Given the description of an element on the screen output the (x, y) to click on. 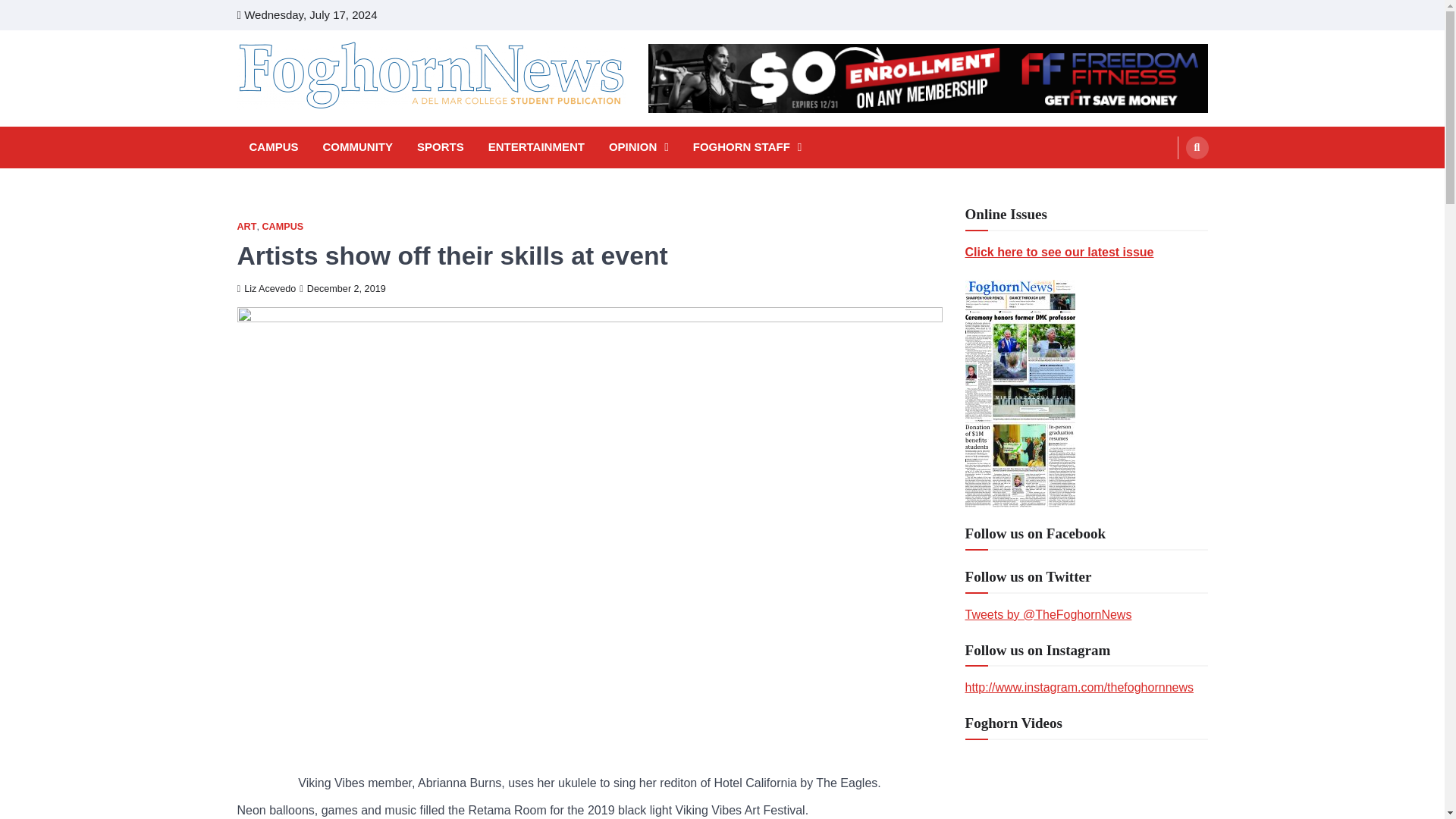
FOGHORN STAFF (747, 147)
Click here to see our latest issue (1058, 251)
Search (1197, 147)
CAMPUS (273, 147)
ART (245, 226)
COMMUNITY (357, 147)
OPINION (638, 147)
CAMPUS (282, 226)
SPORTS (440, 147)
Search (1168, 183)
Liz Acevedo (265, 288)
ENTERTAINMENT (536, 147)
December 2, 2019 (342, 288)
FOGHORN NEWS (342, 130)
